Given the description of an element on the screen output the (x, y) to click on. 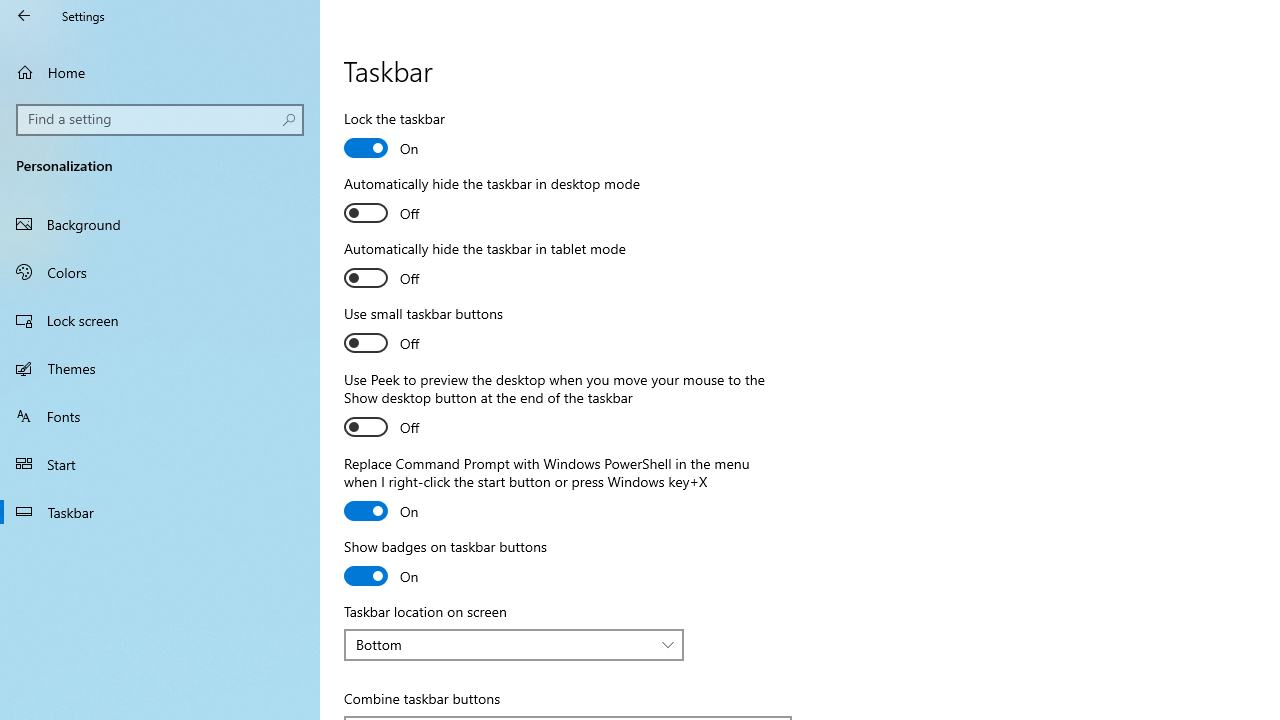
Fonts (160, 415)
Colors (160, 271)
Taskbar (160, 511)
